Given the description of an element on the screen output the (x, y) to click on. 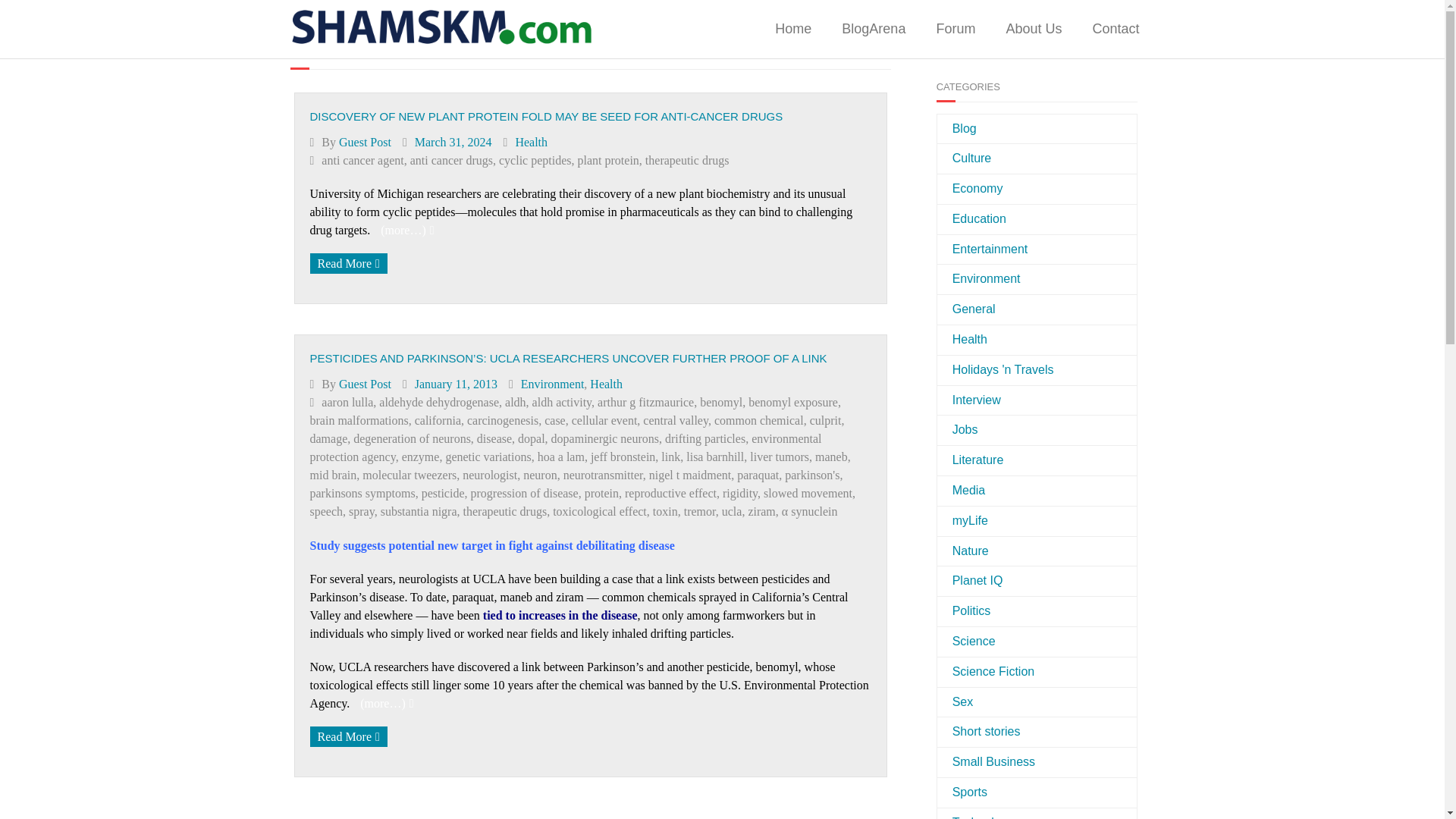
BlogArena (873, 29)
Health (606, 383)
anti cancer agent (362, 160)
brain malformations (357, 420)
Guest Post (365, 141)
Forum (955, 29)
Health (531, 141)
About travels and holidays (995, 369)
Search (1107, 36)
